Given the description of an element on the screen output the (x, y) to click on. 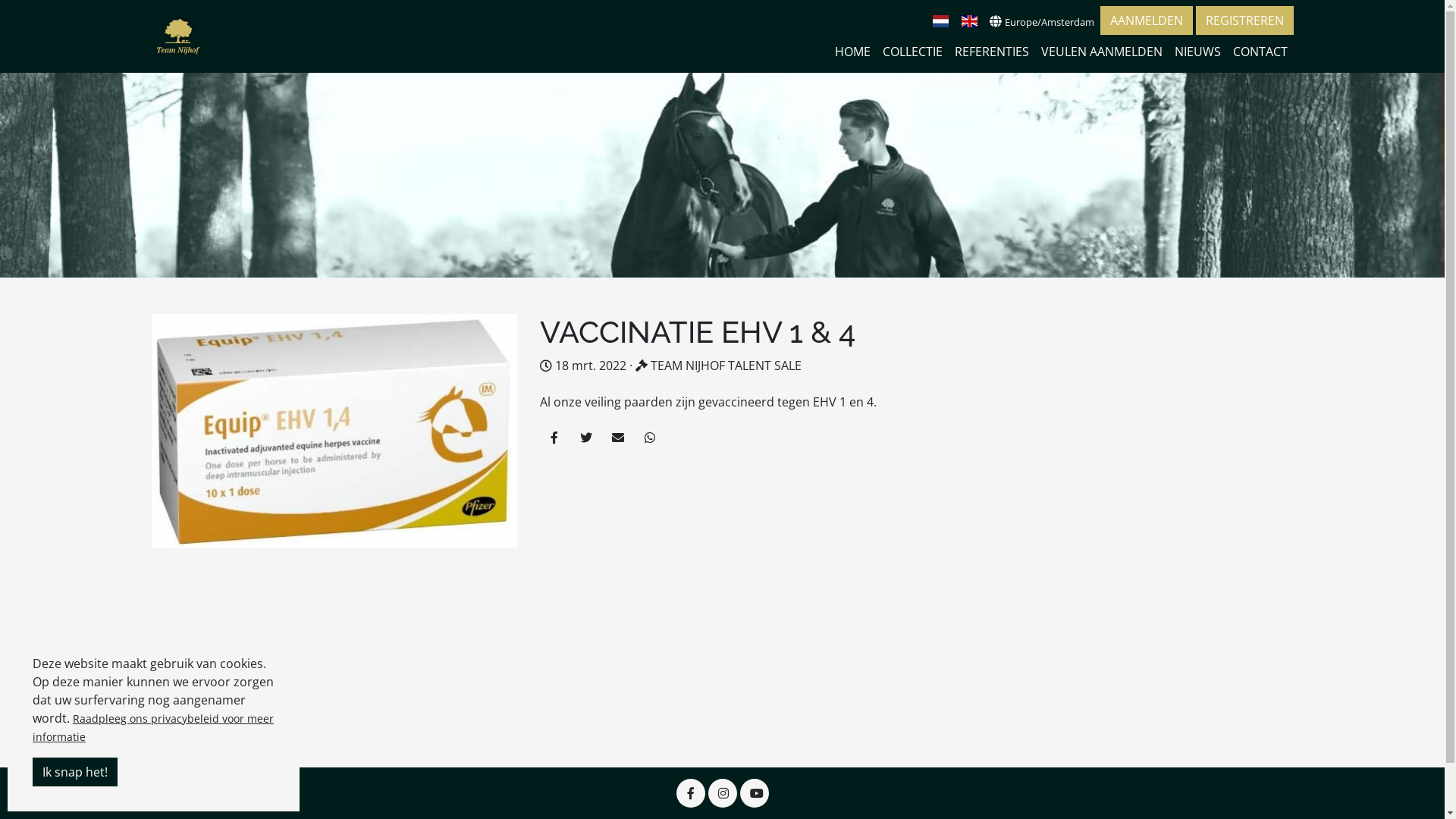
HOME Element type: text (851, 51)
Raadpleeg ons privacybeleid voor meer informatie Element type: text (152, 727)
REFERENTIES Element type: text (990, 51)
CONTACT Element type: text (1259, 51)
REGISTREREN Element type: text (1243, 20)
NIEUWS Element type: text (1196, 51)
VEULEN AANMELDEN Element type: text (1100, 51)
TEAM NIJHOF TALENT SALE Element type: text (718, 365)
COLLECTIE Element type: text (912, 51)
Ik snap het! Element type: text (74, 771)
Europe/Amsterdam Element type: text (1040, 21)
AANMELDEN Element type: text (1145, 20)
